Given the description of an element on the screen output the (x, y) to click on. 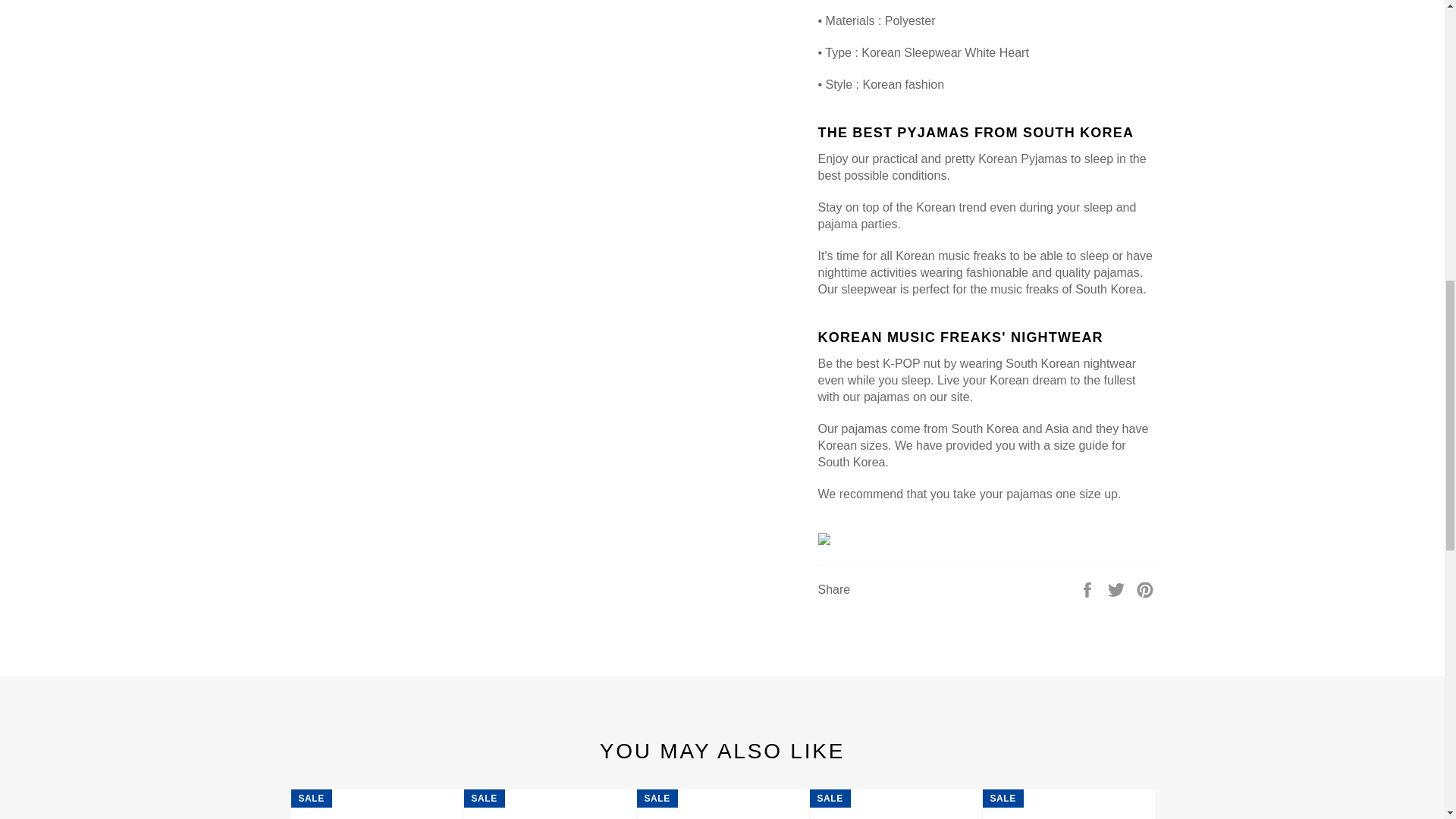
Share on Facebook (1088, 589)
Tweet on Twitter (1117, 589)
Pin on Pinterest (1144, 589)
